Given the description of an element on the screen output the (x, y) to click on. 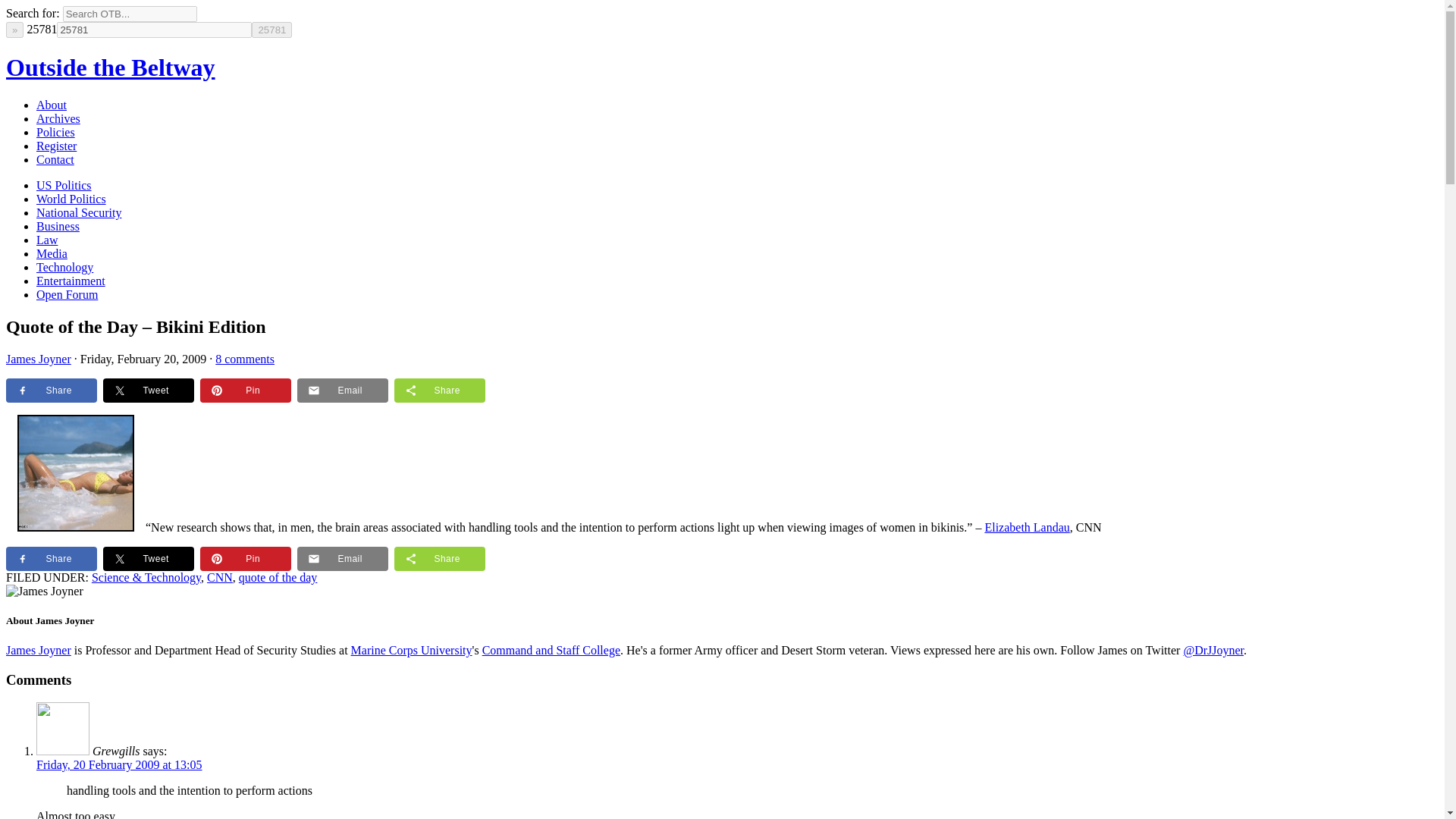
Friday, 20 February 2009 at 13:05 (119, 764)
US Politics (63, 185)
National Security (78, 212)
Technology (64, 267)
Elizabeth Landau (1026, 526)
Policies (55, 132)
Contact (55, 159)
Open Forum (66, 294)
25781 (271, 29)
Marine Corps University (410, 649)
James Joyner (38, 649)
25781 (153, 29)
Media (51, 253)
Business (58, 226)
